Given the description of an element on the screen output the (x, y) to click on. 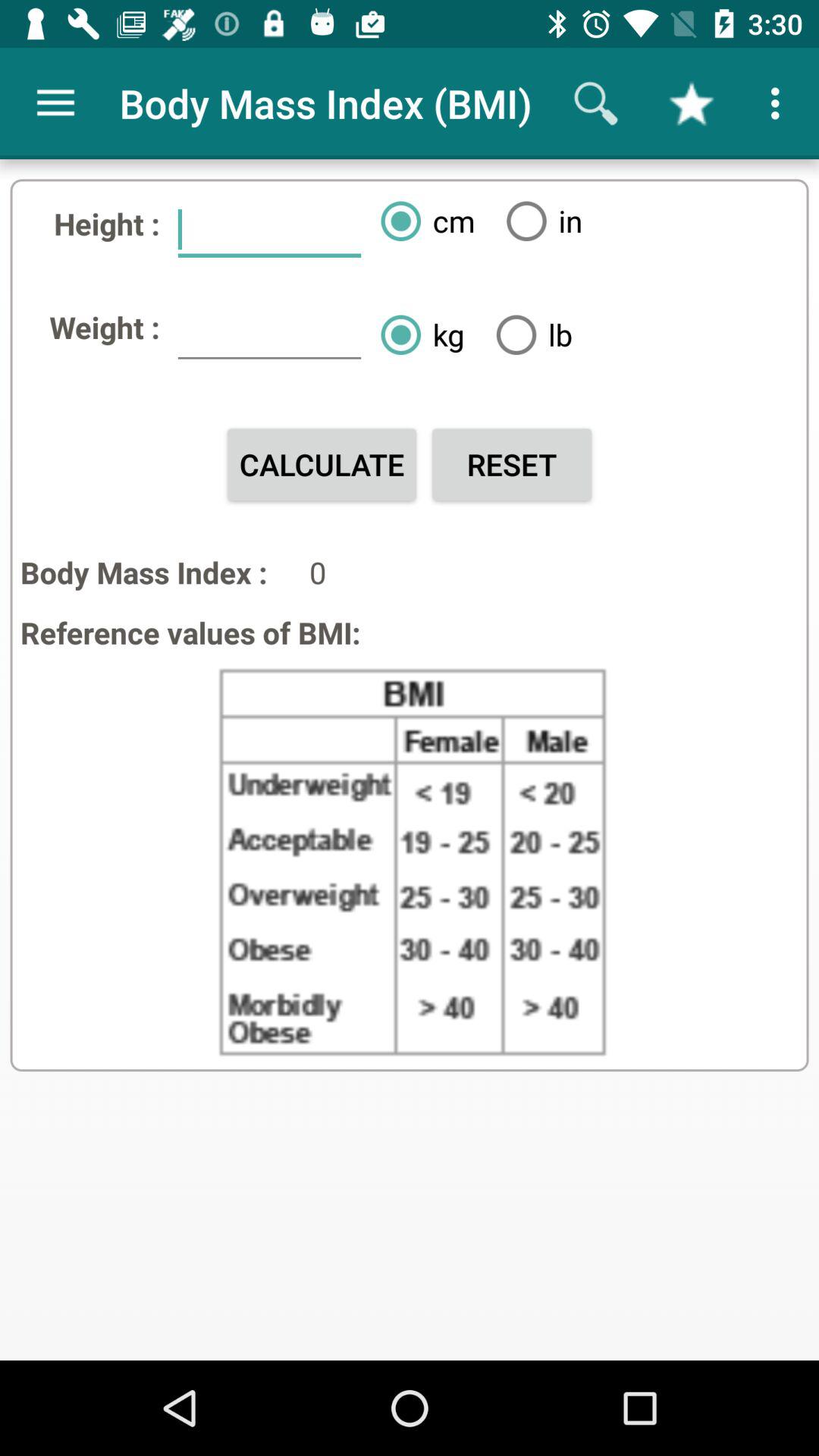
turn on icon above 0 item (511, 464)
